Given the description of an element on the screen output the (x, y) to click on. 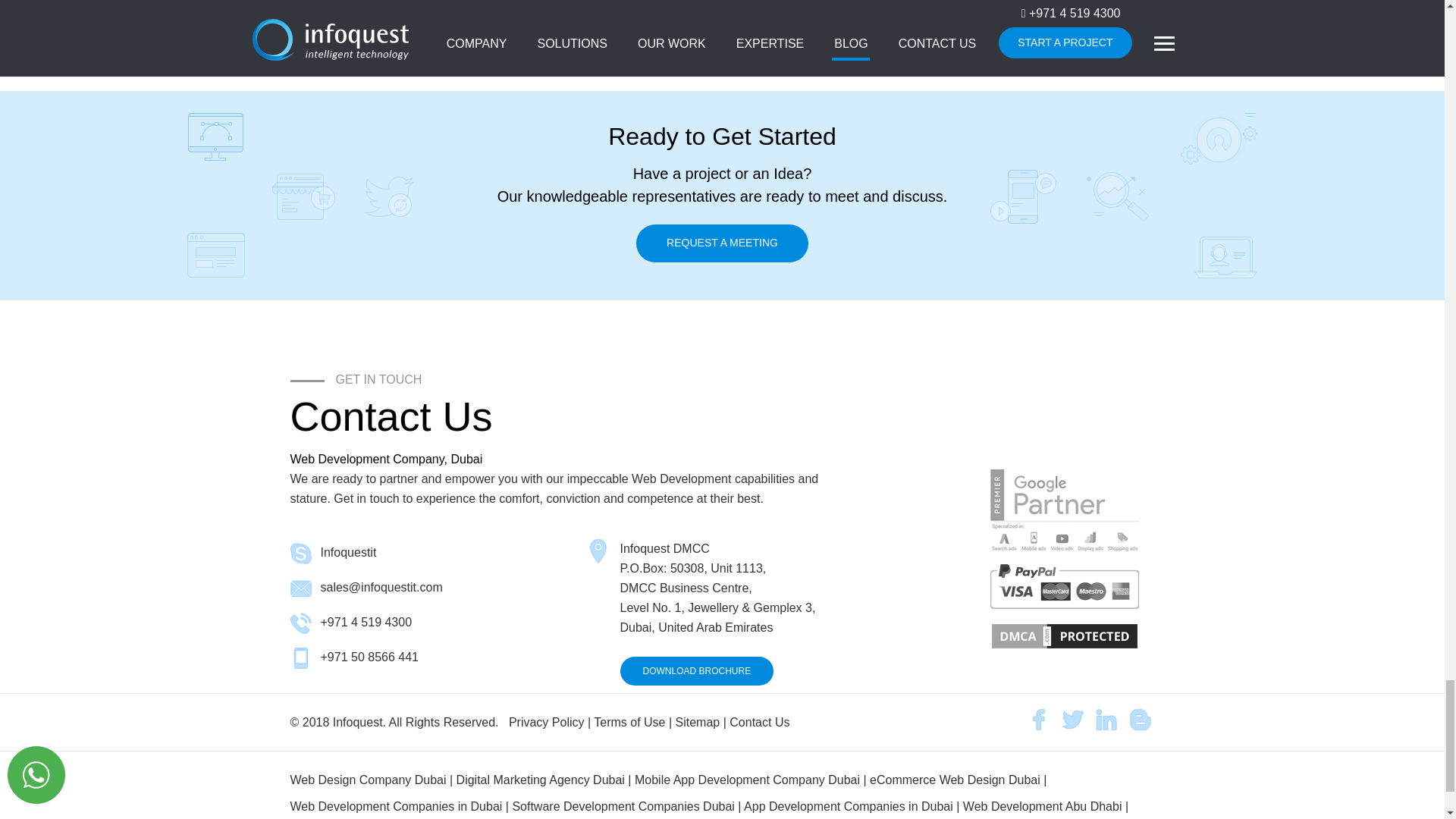
DMCA.com Protection Status (1062, 636)
